Given the description of an element on the screen output the (x, y) to click on. 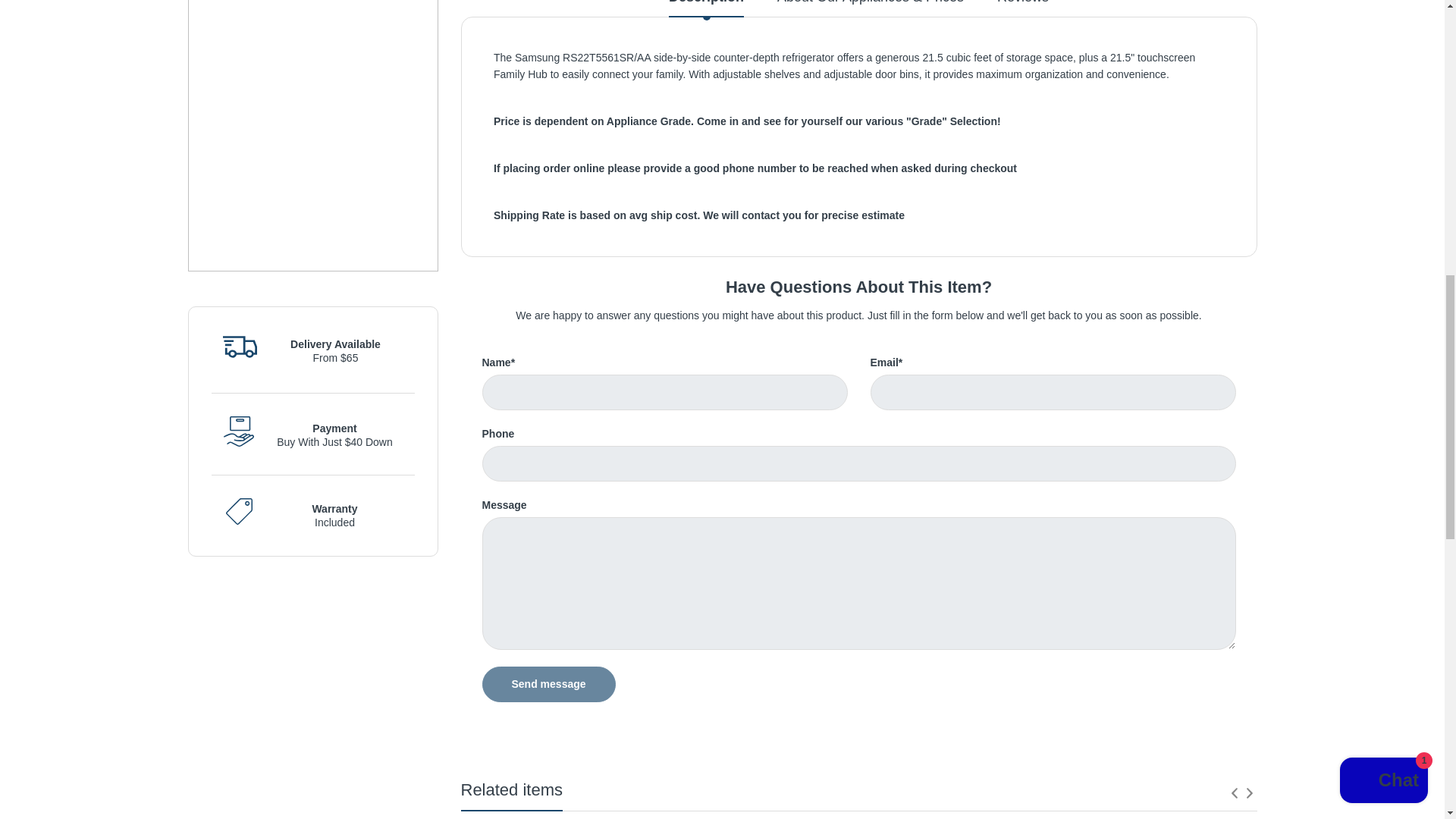
electro-brands-icon (238, 510)
electro-payment (238, 431)
electro-track-order-icon (239, 346)
